Given the description of an element on the screen output the (x, y) to click on. 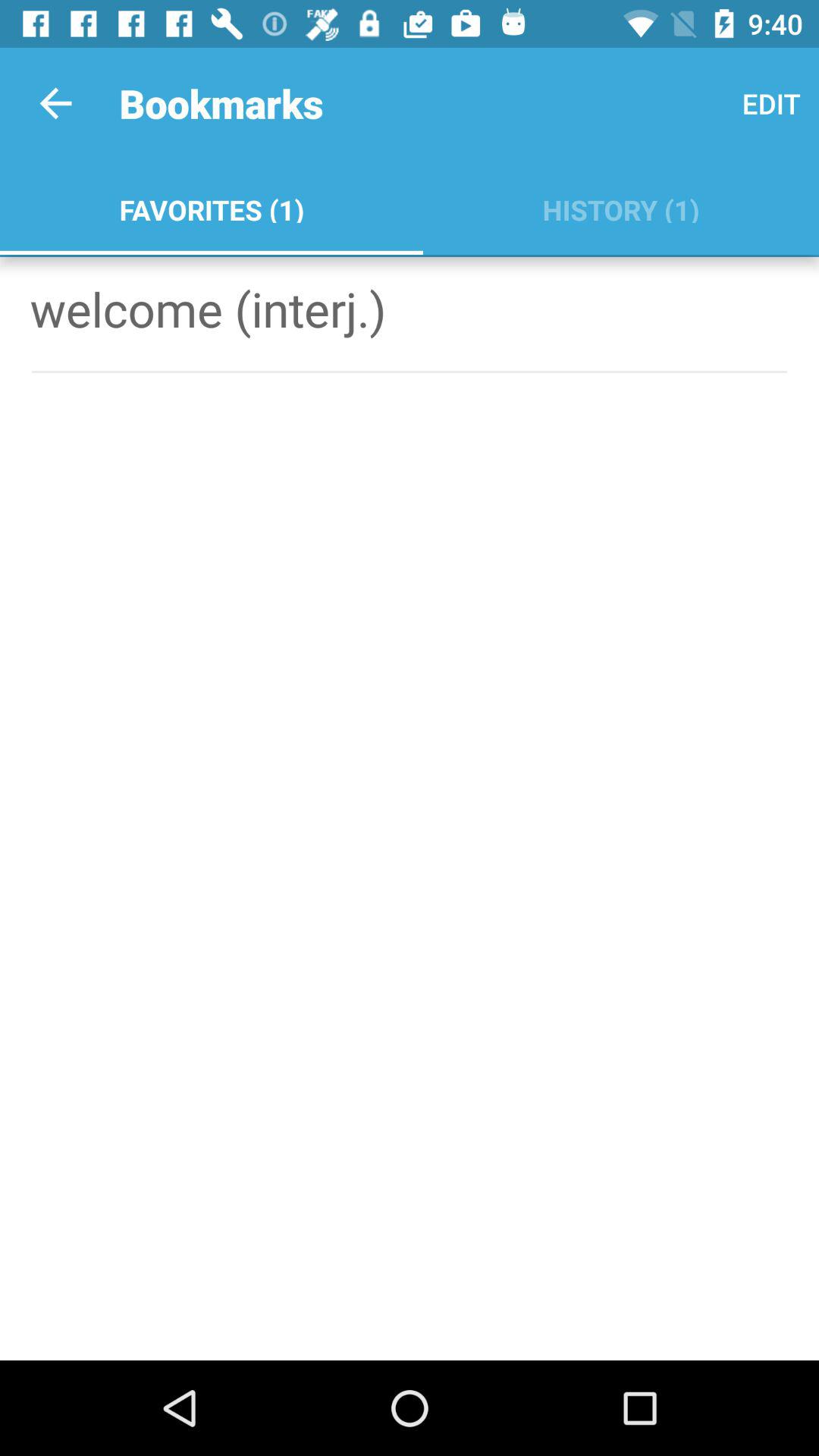
tap the app to the left of the history (1) (211, 206)
